Given the description of an element on the screen output the (x, y) to click on. 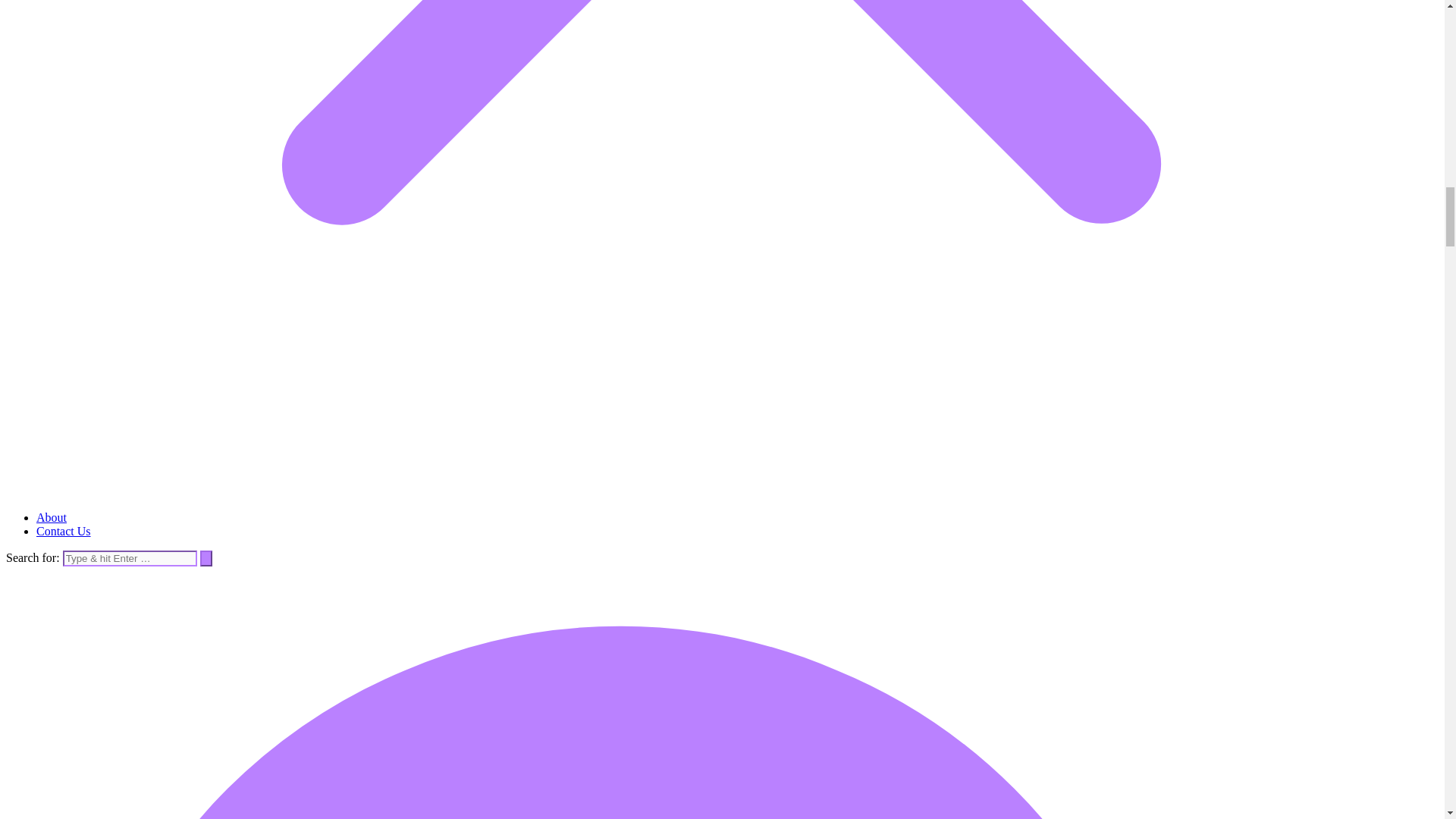
Contact Us (63, 530)
About (51, 517)
Search for: (129, 558)
